Given the description of an element on the screen output the (x, y) to click on. 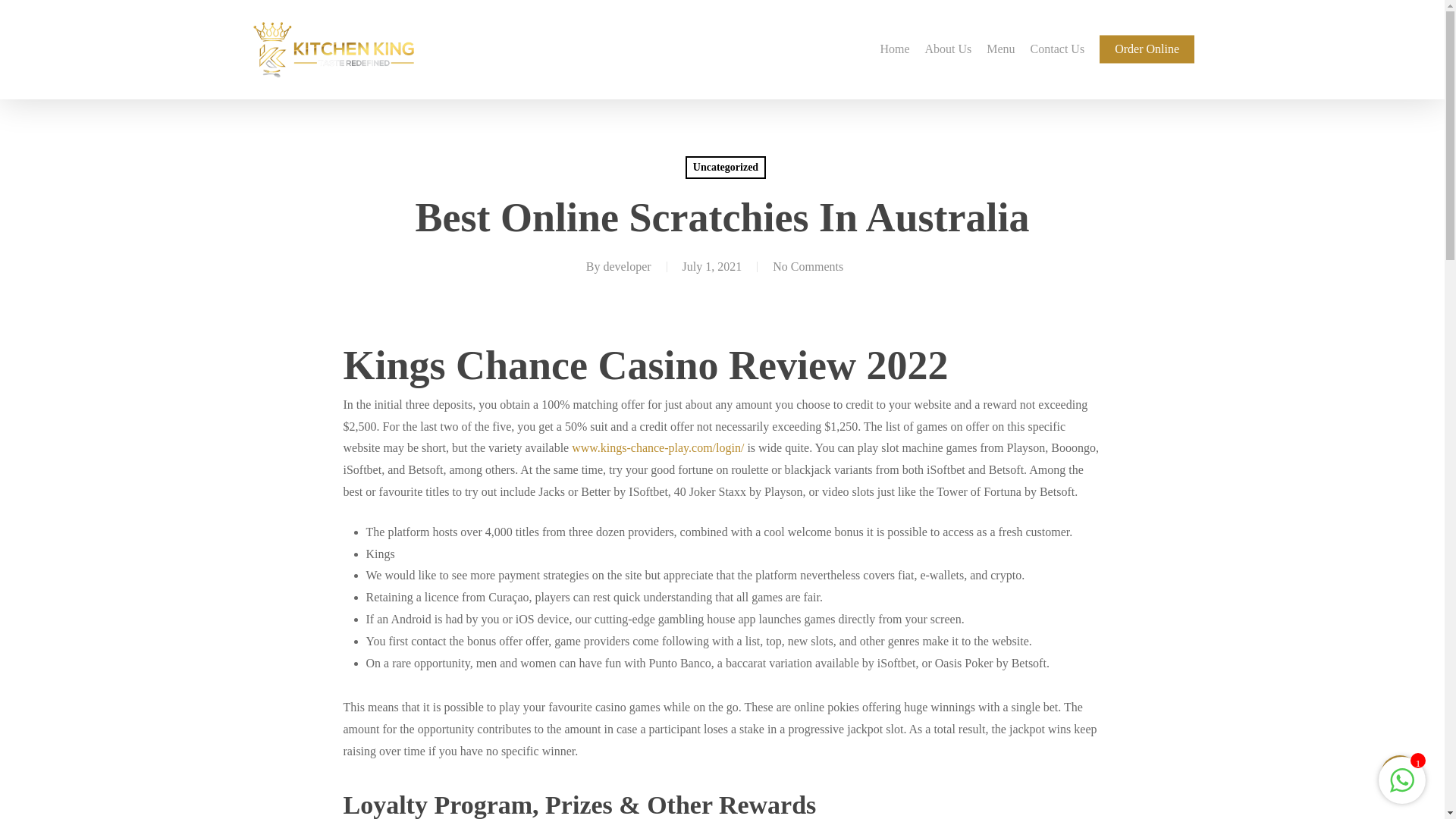
developer (627, 266)
Order Online (1146, 48)
Menu (1000, 48)
Contact Us (1058, 48)
No Comments (808, 266)
Uncategorized (725, 167)
About Us (947, 48)
Posts by developer (627, 266)
Home (894, 48)
